Given the description of an element on the screen output the (x, y) to click on. 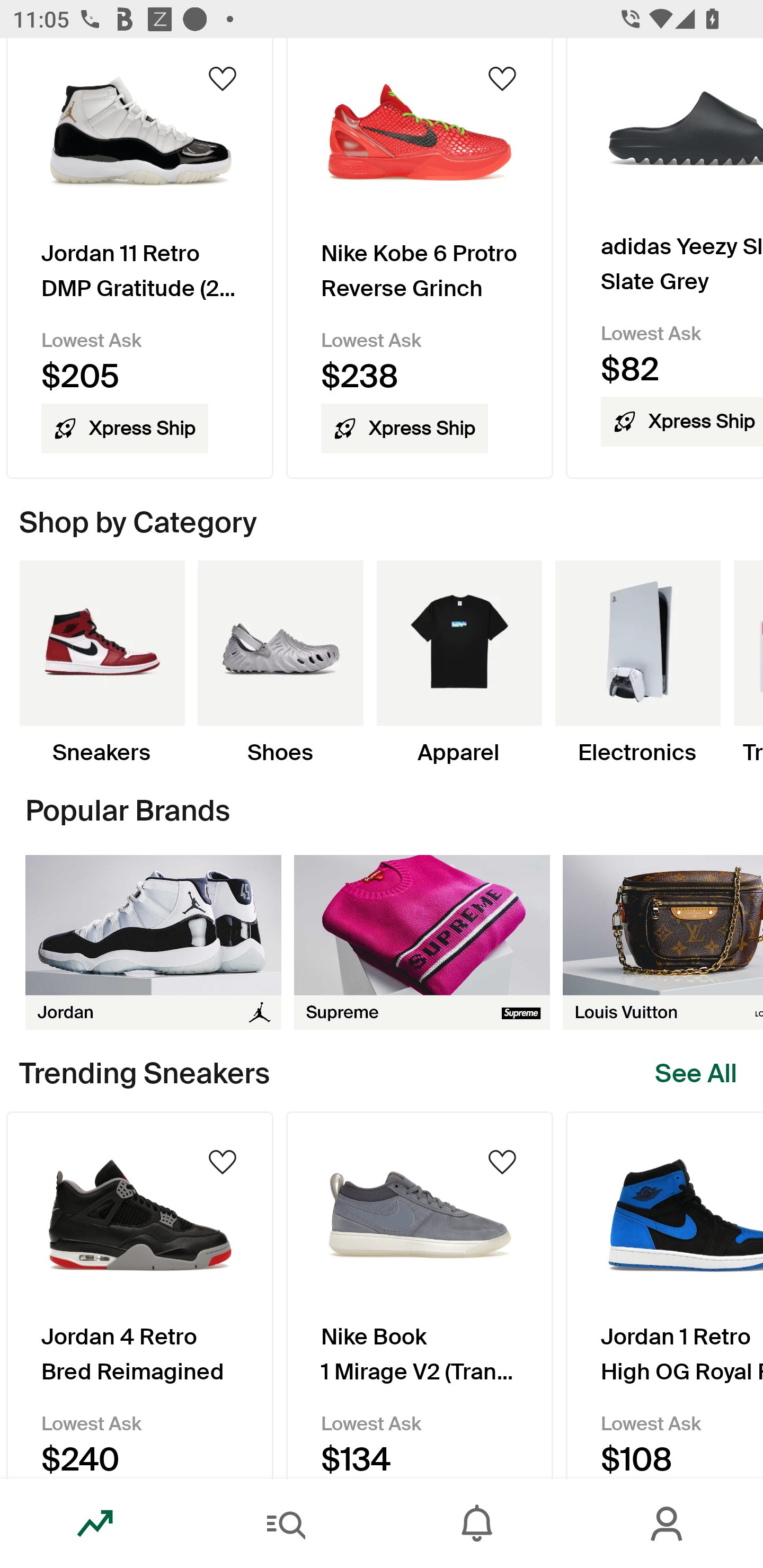
Product Image Sneakers (101, 662)
Product Image Shoes (280, 662)
Product Image Apparel (458, 662)
Product Image Electronics (637, 662)
jordan.jpg (153, 942)
supreme.jpg (421, 942)
lv.jpg (663, 942)
See All (695, 1072)
Search (285, 1523)
Inbox (476, 1523)
Account (667, 1523)
